Given the description of an element on the screen output the (x, y) to click on. 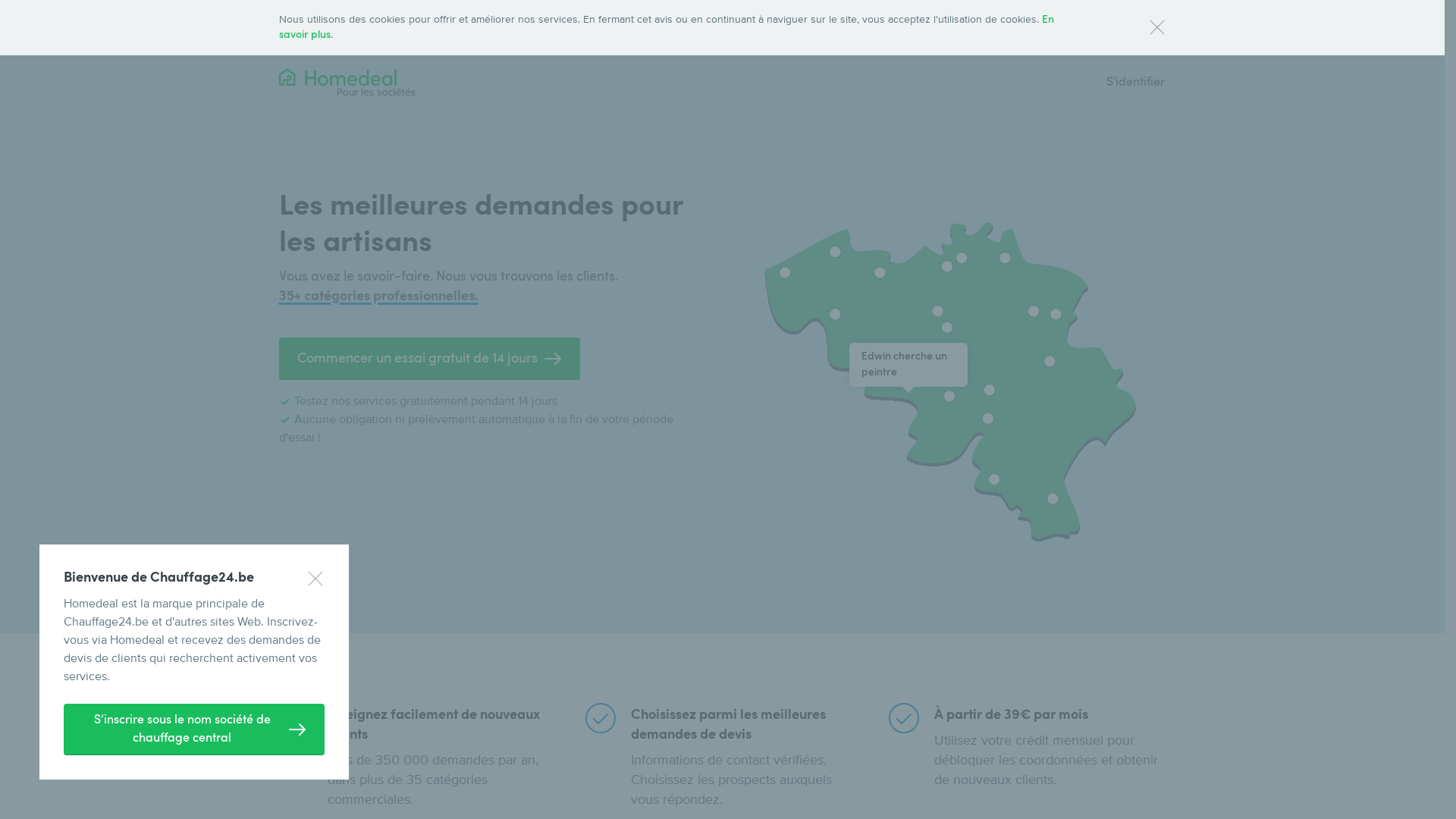
Commencer un essai gratuit de 14 jours Element type: text (429, 358)
En savoir plus Element type: text (666, 27)
S'identifier Element type: text (1134, 81)
Fermer Element type: hover (1157, 27)
